Given the description of an element on the screen output the (x, y) to click on. 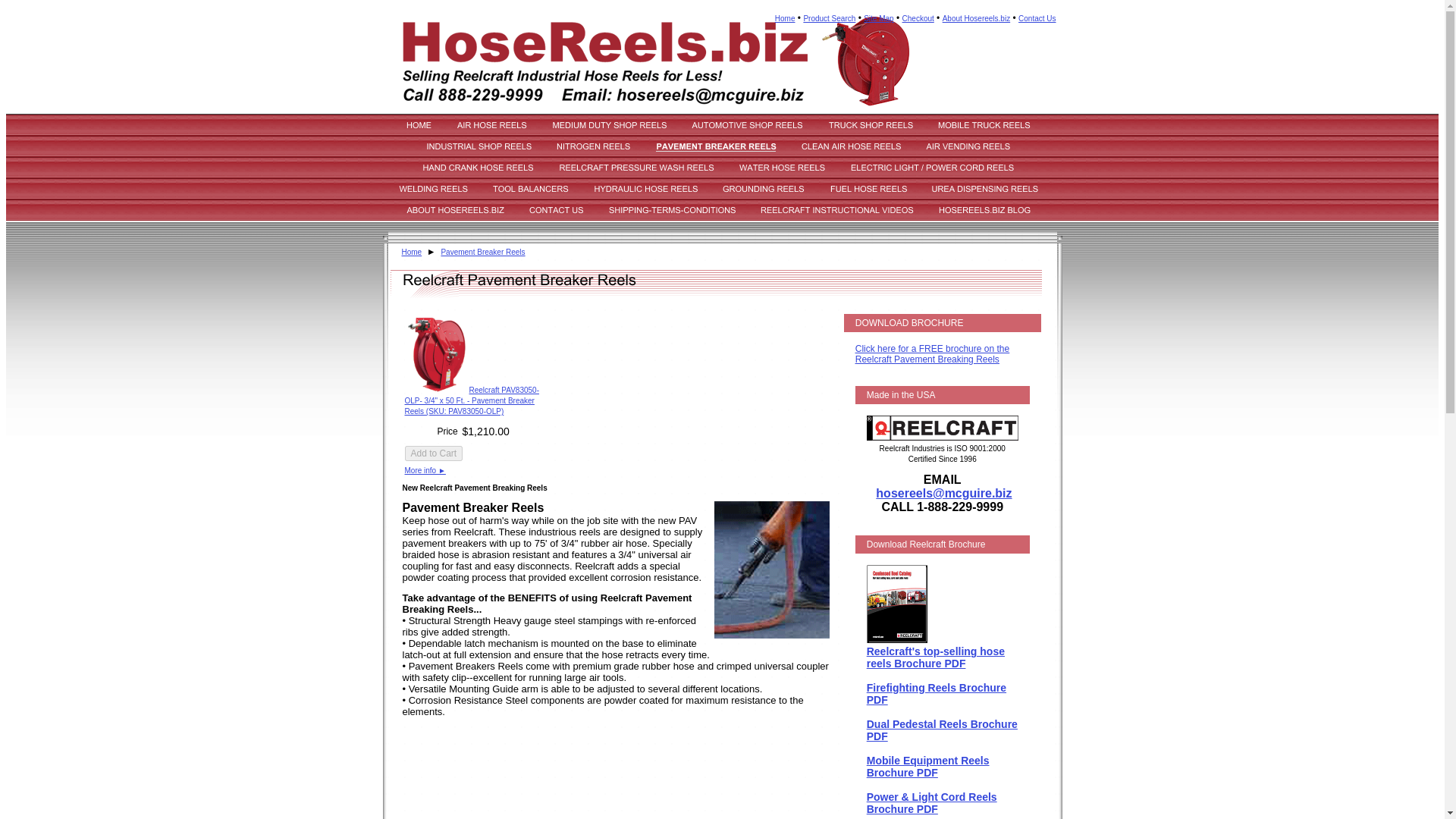
About Hosereels.biz (976, 18)
Pavement Breaker Reels (482, 252)
Home (411, 252)
Contact Us (1036, 18)
Site Map (878, 18)
Home (784, 18)
Product Search (829, 18)
Checkout (918, 18)
Reelcraft Pavement Breaking Reels Brochure (932, 353)
